Given the description of an element on the screen output the (x, y) to click on. 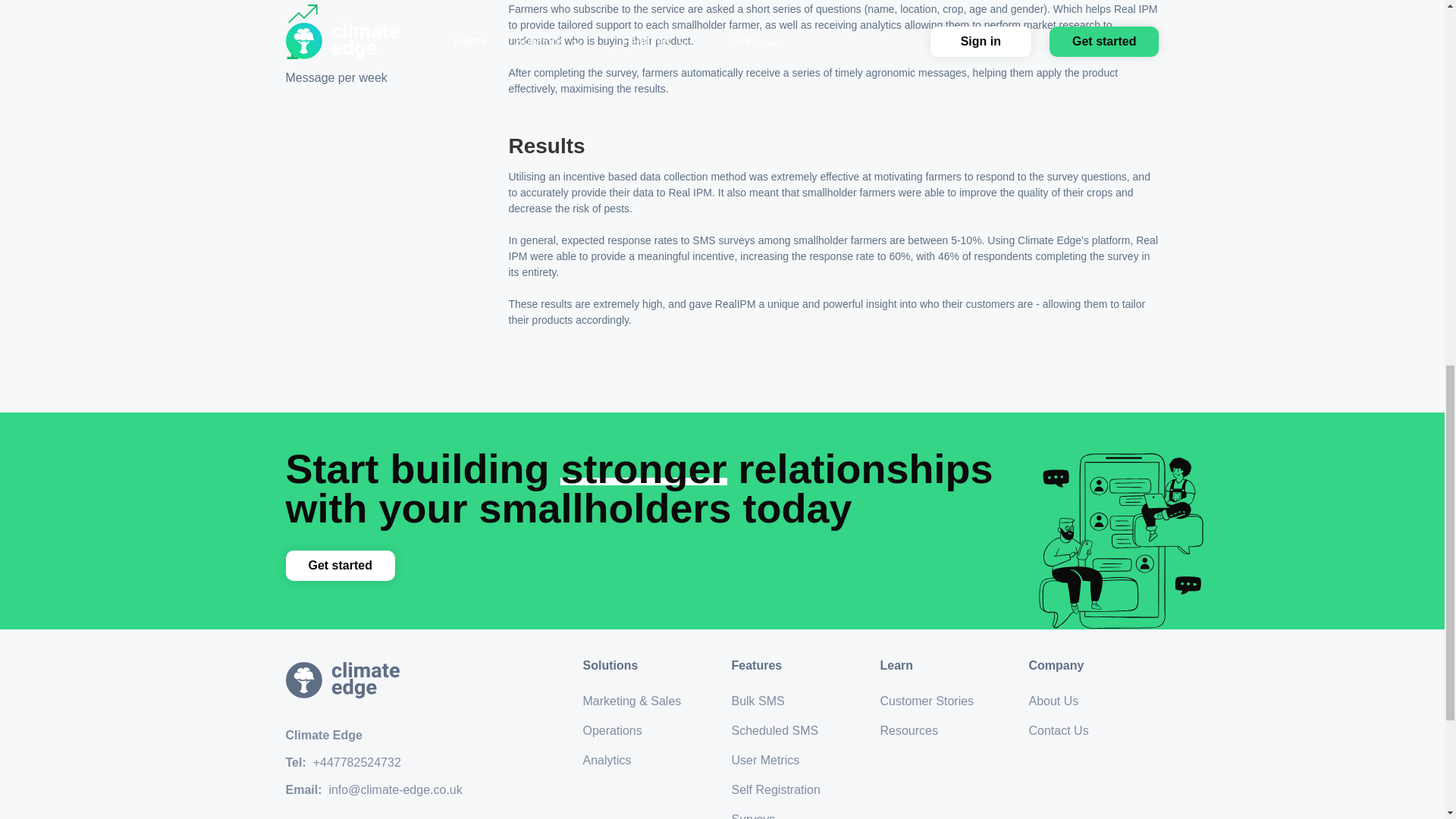
Self Registration (795, 790)
Operations (647, 730)
User Metrics (795, 760)
Surveys (795, 814)
Scheduled SMS (795, 730)
Get started (339, 565)
Bulk SMS (795, 700)
Analytics (647, 760)
